Given the description of an element on the screen output the (x, y) to click on. 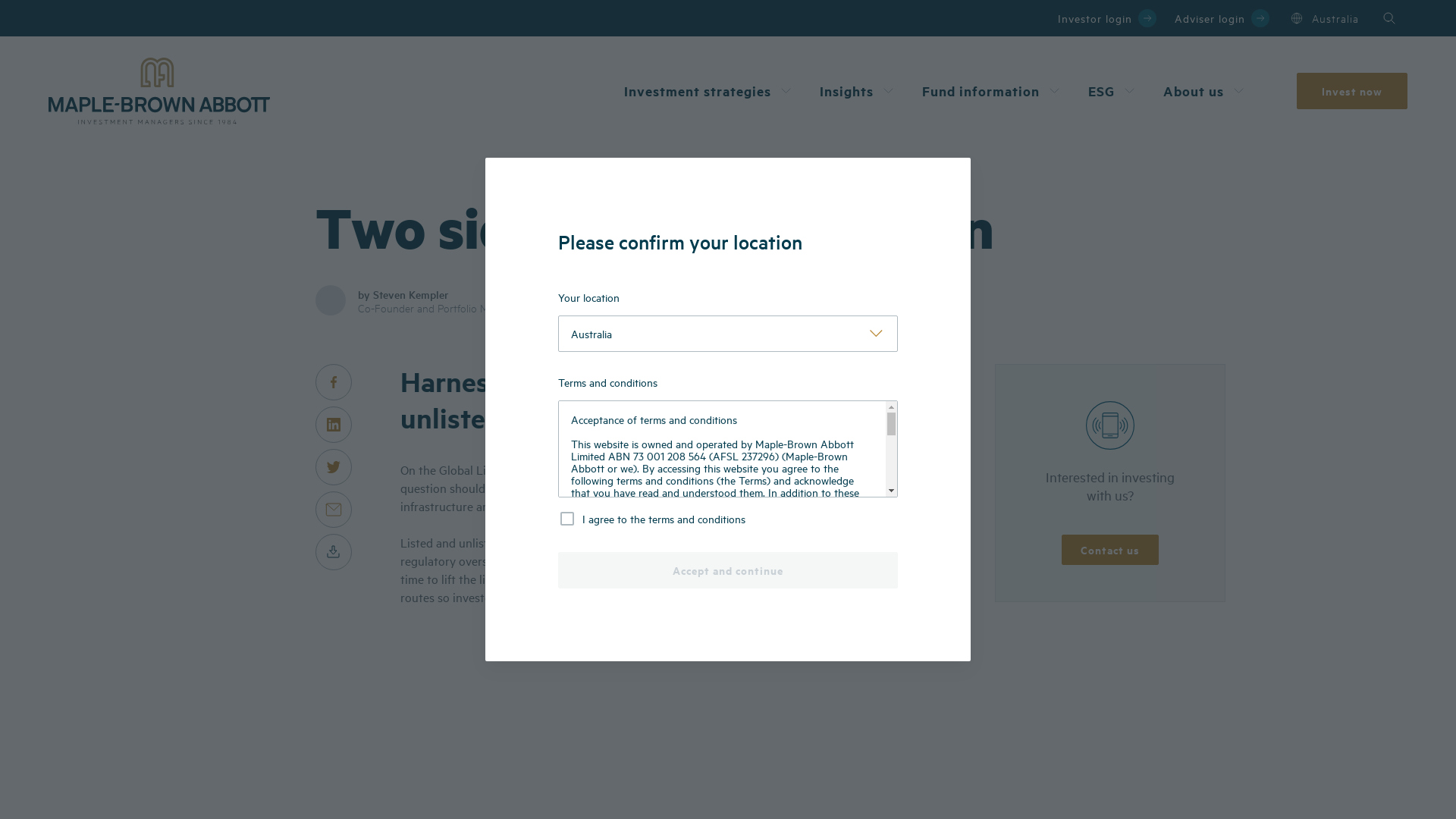
Adviser login Element type: text (1221, 18)
Contact us Element type: text (1109, 549)
About us Element type: text (1205, 90)
LinkedIn Share Element type: text (333, 424)
Australia Element type: text (1322, 18)
Twitter Share Element type: text (333, 466)
Investor login Element type: text (1106, 18)
Fund information Element type: text (993, 90)
Facebook Share Element type: text (333, 382)
Insights Element type: text (858, 90)
Email Share Element type: text (333, 509)
ESG Element type: text (1113, 90)
Invest now Element type: text (1351, 90)
Download File Element type: text (333, 551)
Investment strategies Element type: text (709, 90)
Accept and continue Element type: text (727, 570)
